Given the description of an element on the screen output the (x, y) to click on. 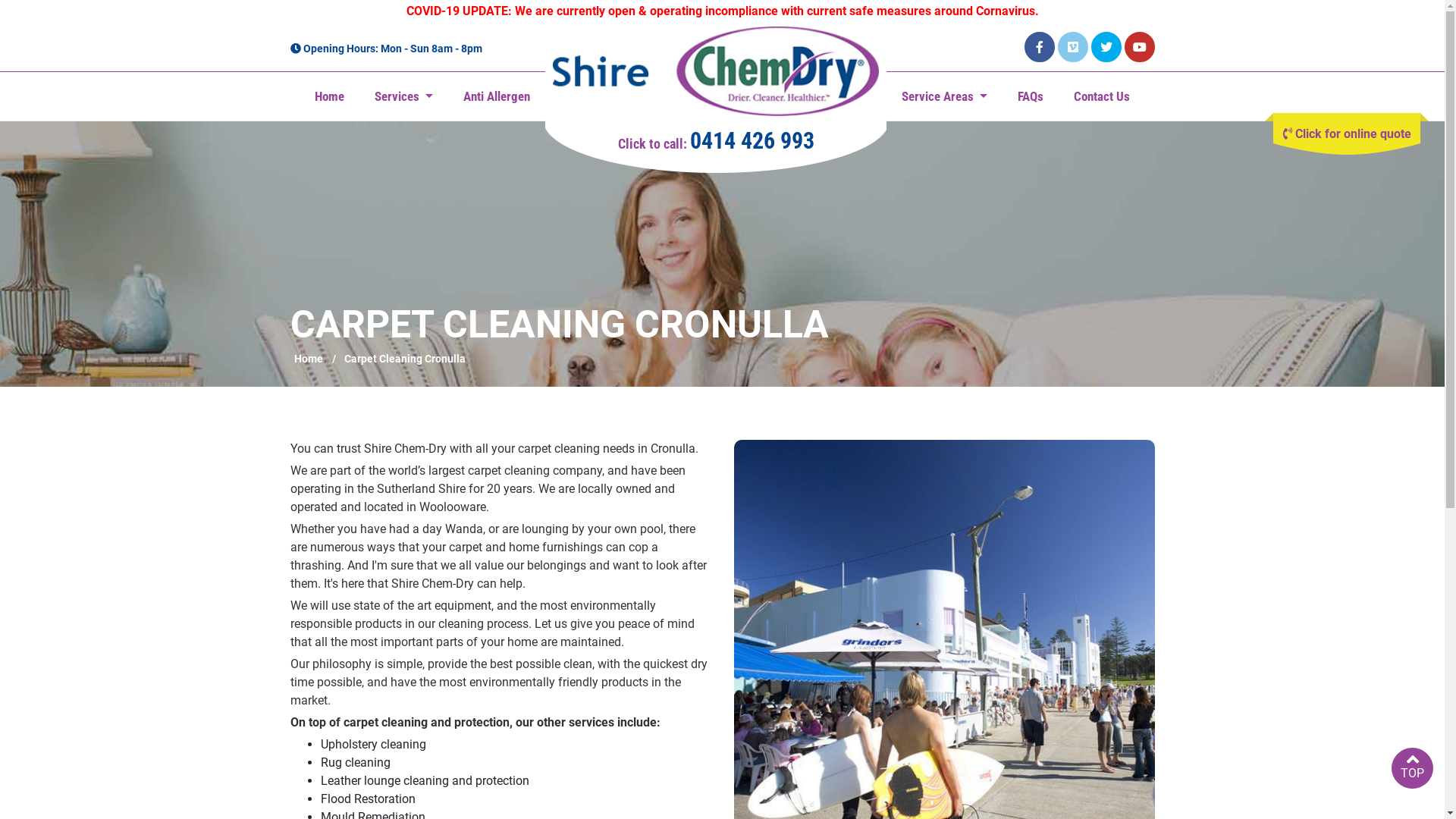
Service Areas Element type: text (944, 96)
Home Element type: text (329, 96)
Services Element type: text (403, 96)
Home Element type: text (308, 358)
Contact Us Element type: text (1101, 96)
Click for online quote Element type: text (1346, 133)
FAQs Element type: text (1030, 96)
Anti Allergen Element type: text (496, 96)
0414 426 993 Element type: text (752, 140)
